Given the description of an element on the screen output the (x, y) to click on. 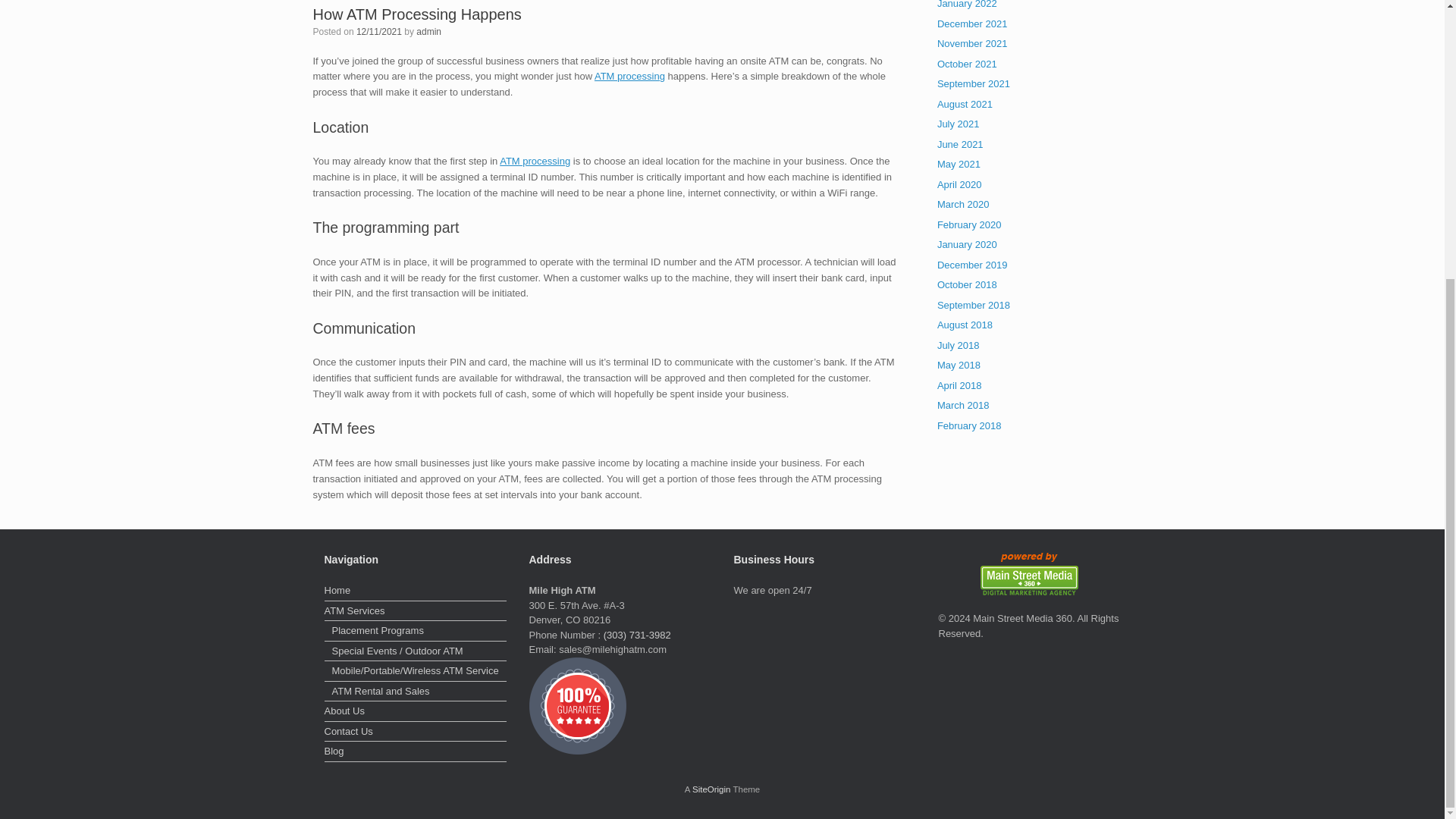
ATM processing (629, 75)
January 2022 (967, 4)
December 2021 (972, 23)
July 2021 (958, 123)
September 2021 (973, 83)
November 2021 (972, 43)
April 2020 (959, 184)
ATM processing (534, 161)
February 2020 (969, 224)
June 2021 (960, 143)
